Given the description of an element on the screen output the (x, y) to click on. 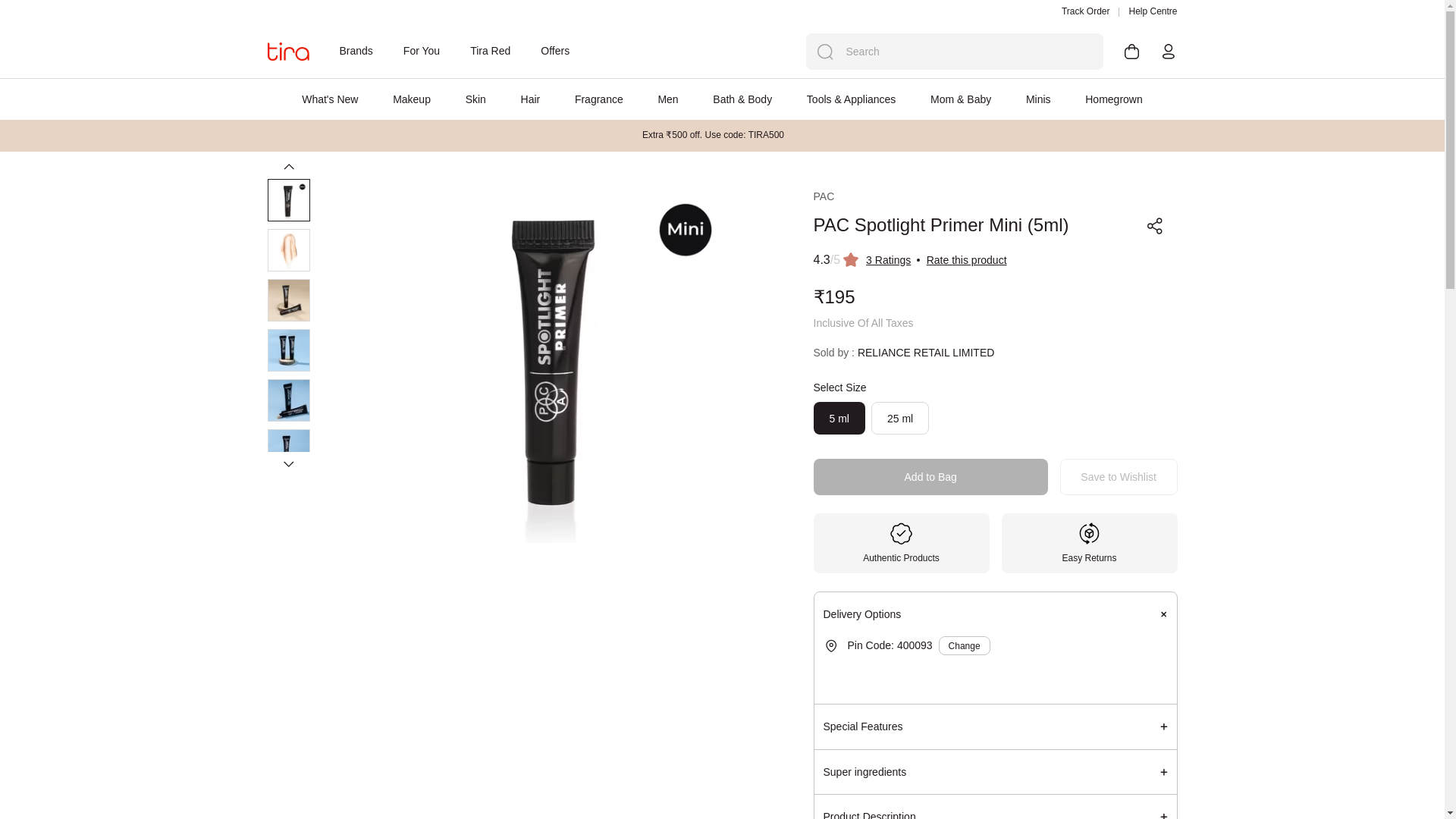
Track Order (1085, 11)
PAC (823, 196)
Cart (1131, 51)
Profile (1422, 27)
What's New (329, 99)
Makeup (411, 99)
Fragrance (599, 99)
Profile (1167, 51)
Homegrown (1112, 99)
Help Centre (1152, 11)
